Given the description of an element on the screen output the (x, y) to click on. 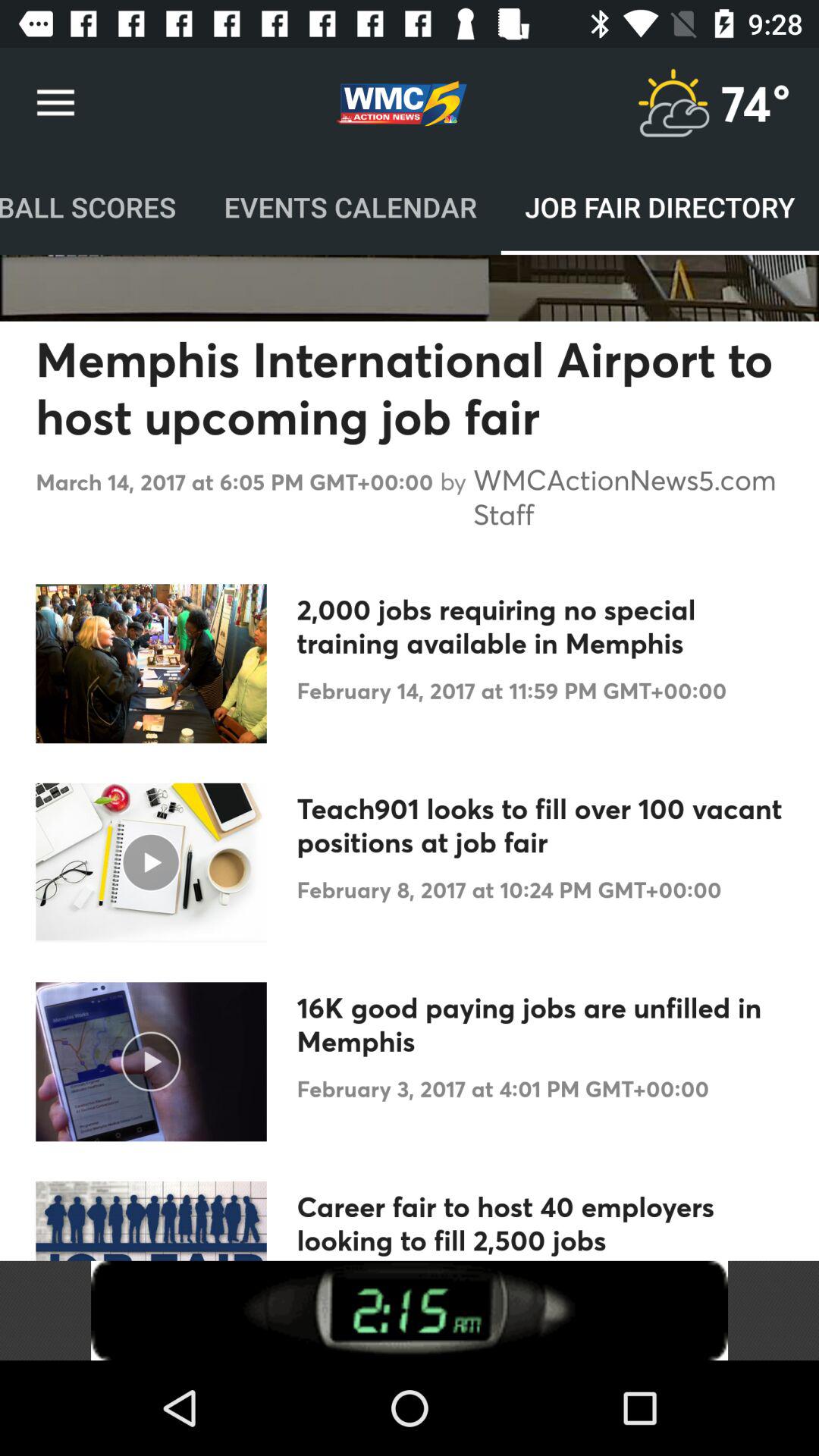
weather conditions (673, 103)
